Given the description of an element on the screen output the (x, y) to click on. 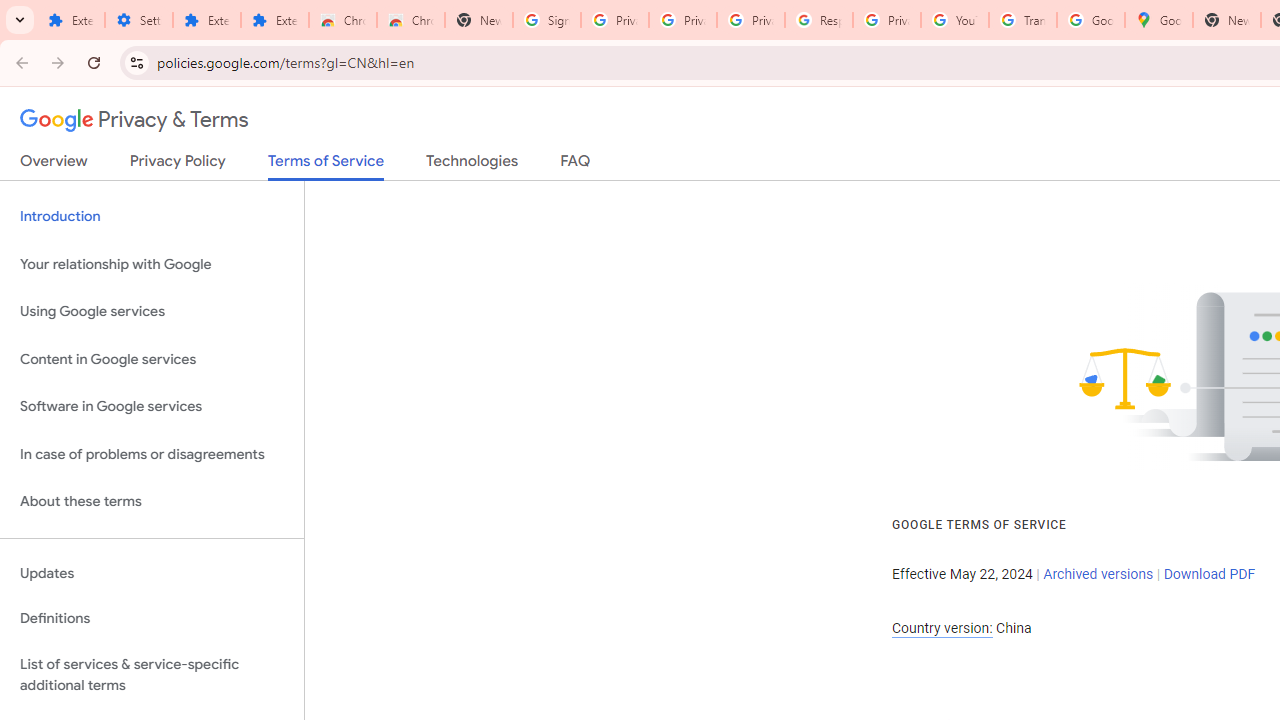
Google Maps (1158, 20)
Sign in - Google Accounts (547, 20)
Using Google services (152, 312)
New Tab (1226, 20)
Software in Google services (152, 407)
Content in Google services (152, 358)
